Given the description of an element on the screen output the (x, y) to click on. 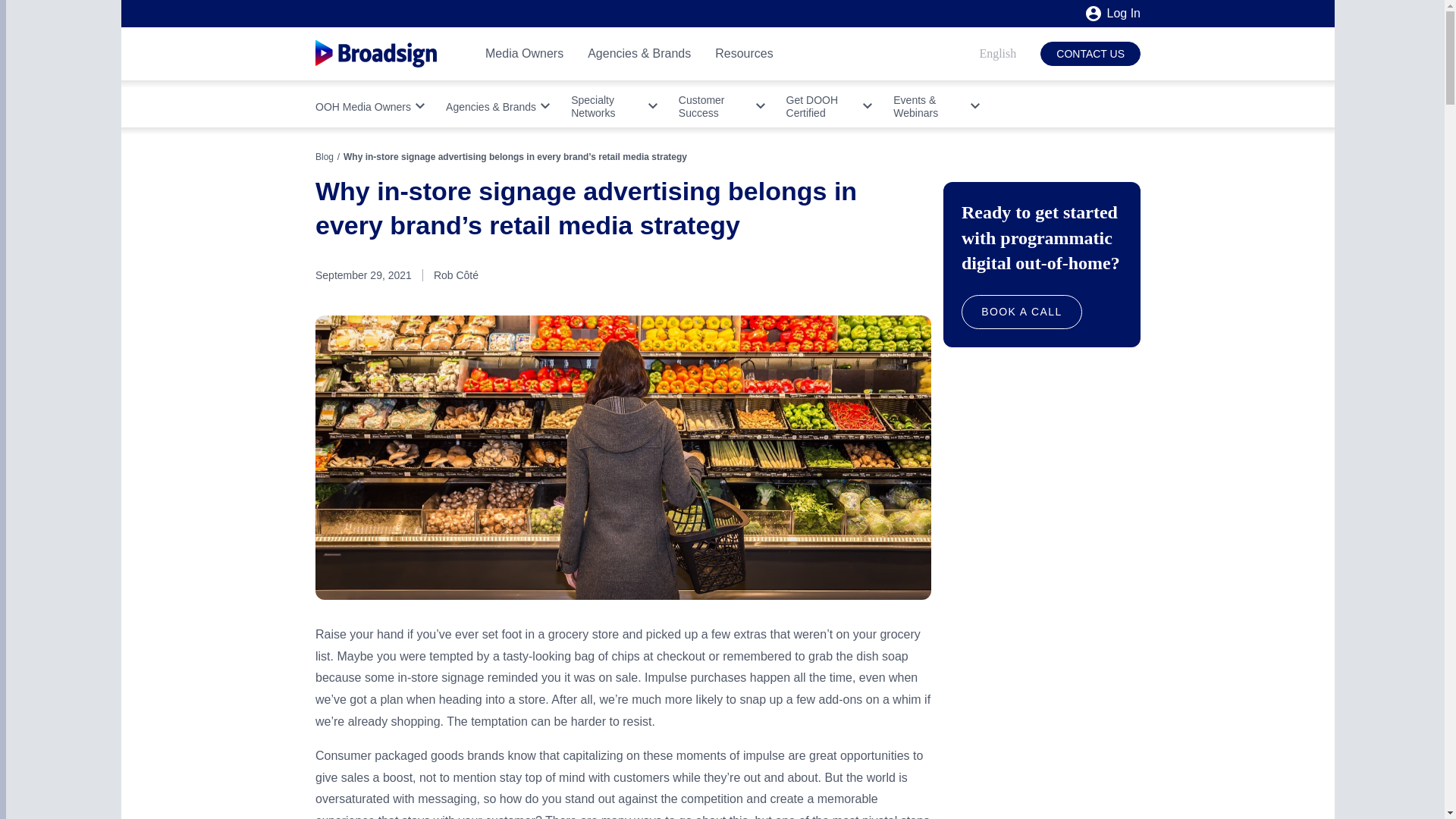
Log In (1113, 13)
Broadsign (375, 53)
